Given the description of an element on the screen output the (x, y) to click on. 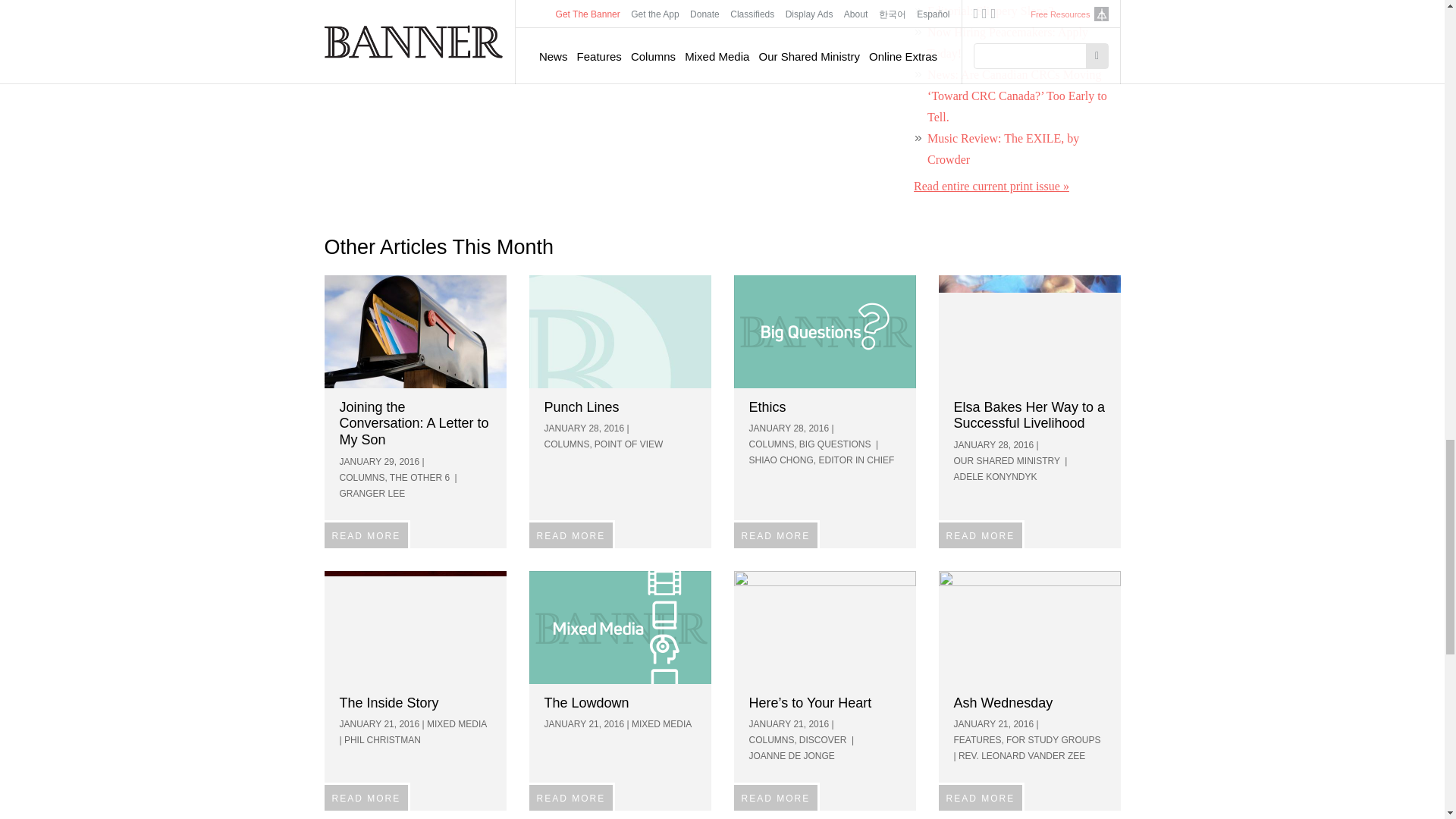
Point of View (620, 331)
Editorial: Slippery Slope? (989, 10)
Music Review: The EXILE, by Crowder (1002, 148)
Mixed Media (620, 626)
Now Hiring Peacemakers: Apply Today! (1007, 42)
